Given the description of an element on the screen output the (x, y) to click on. 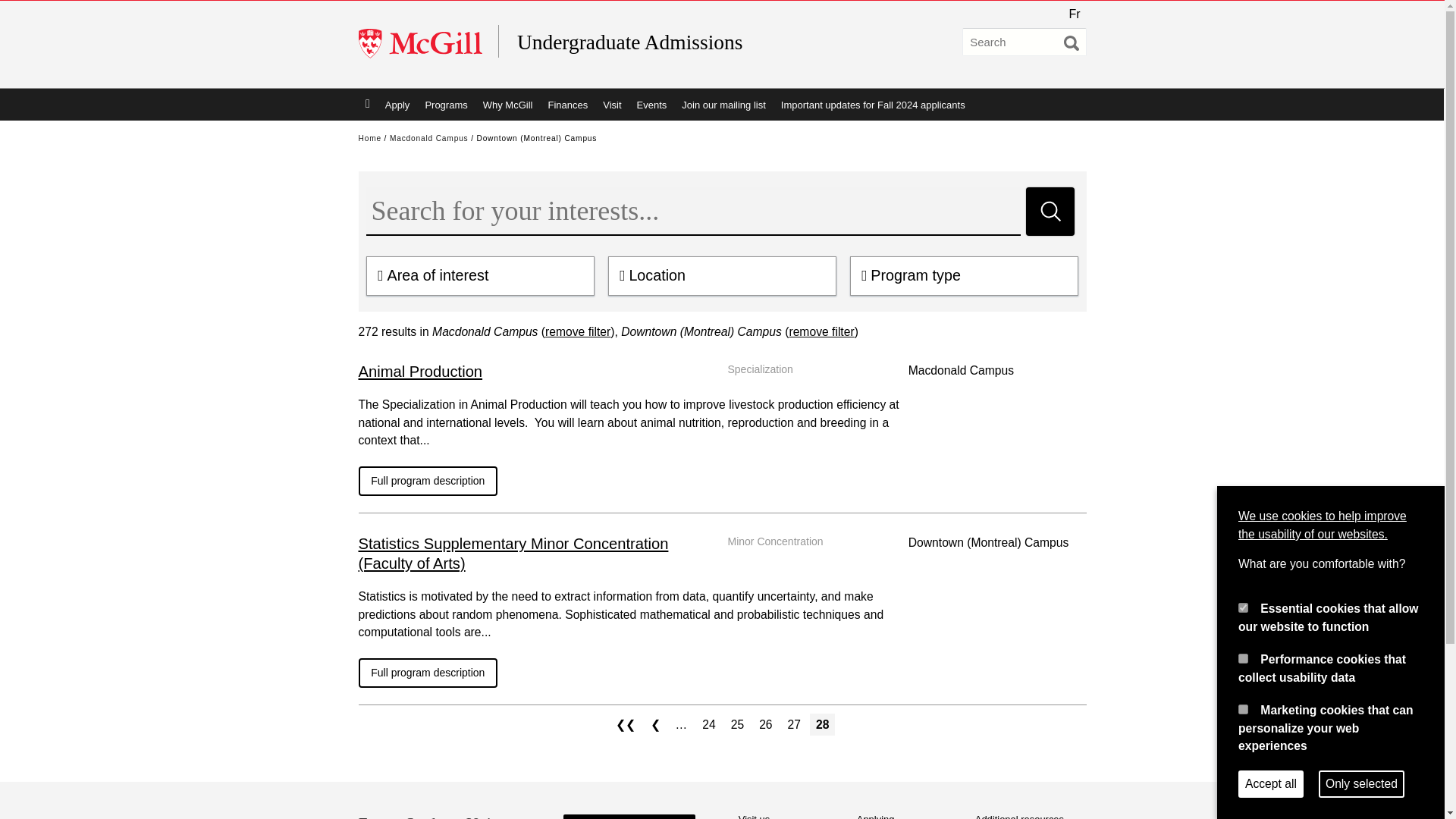
required (1243, 607)
Programs (445, 104)
Macdonald Campus (429, 138)
Fr (1074, 14)
Undergraduate Admissions (664, 42)
Events (651, 104)
Search (1050, 211)
Visit (611, 104)
marketing (1243, 709)
Apply (397, 104)
